Given the description of an element on the screen output the (x, y) to click on. 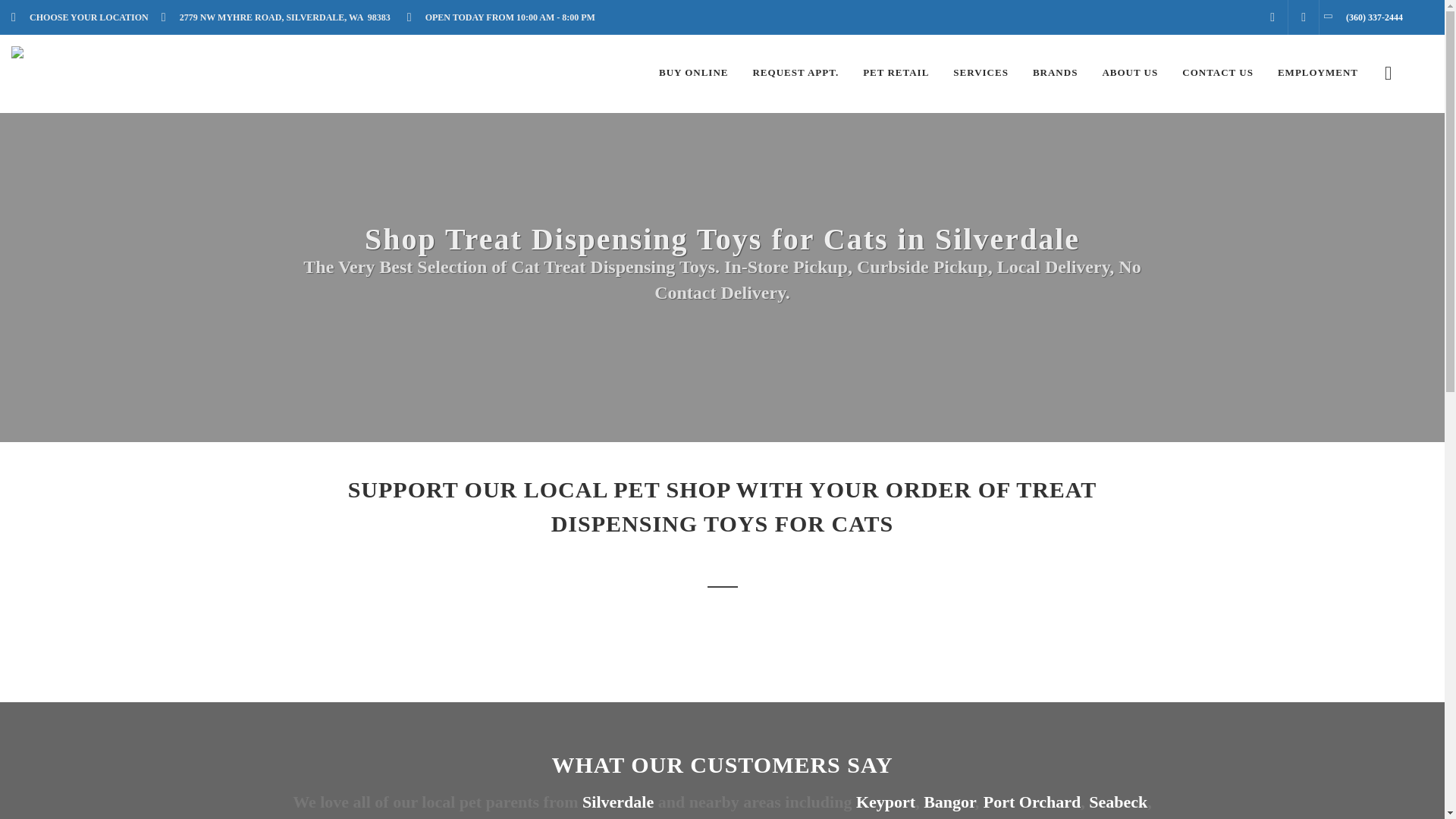
BUY ONLINE (693, 72)
Naturally 4 Paws Buy Online Near Silverdale (693, 72)
Naturally 4 Paws Pet Retail Near Silverdale (895, 72)
BRANDS (1055, 72)
ABOUT US (1129, 72)
OPEN TODAY FROM 10:00 AM - 8:00 PM (505, 16)
SERVICES (981, 72)
REQUEST APPT. (795, 72)
Naturally 4 Paws Services Near Silverdale (981, 72)
Naturally 4 Paws Request Appt. Near Silverdale (795, 72)
2779 NW MYHRE ROAD, SILVERDALE, WA  98383 (280, 16)
PET RETAIL (895, 72)
Naturally 4 Paws Brands Near Silverdale (1055, 72)
